Given the description of an element on the screen output the (x, y) to click on. 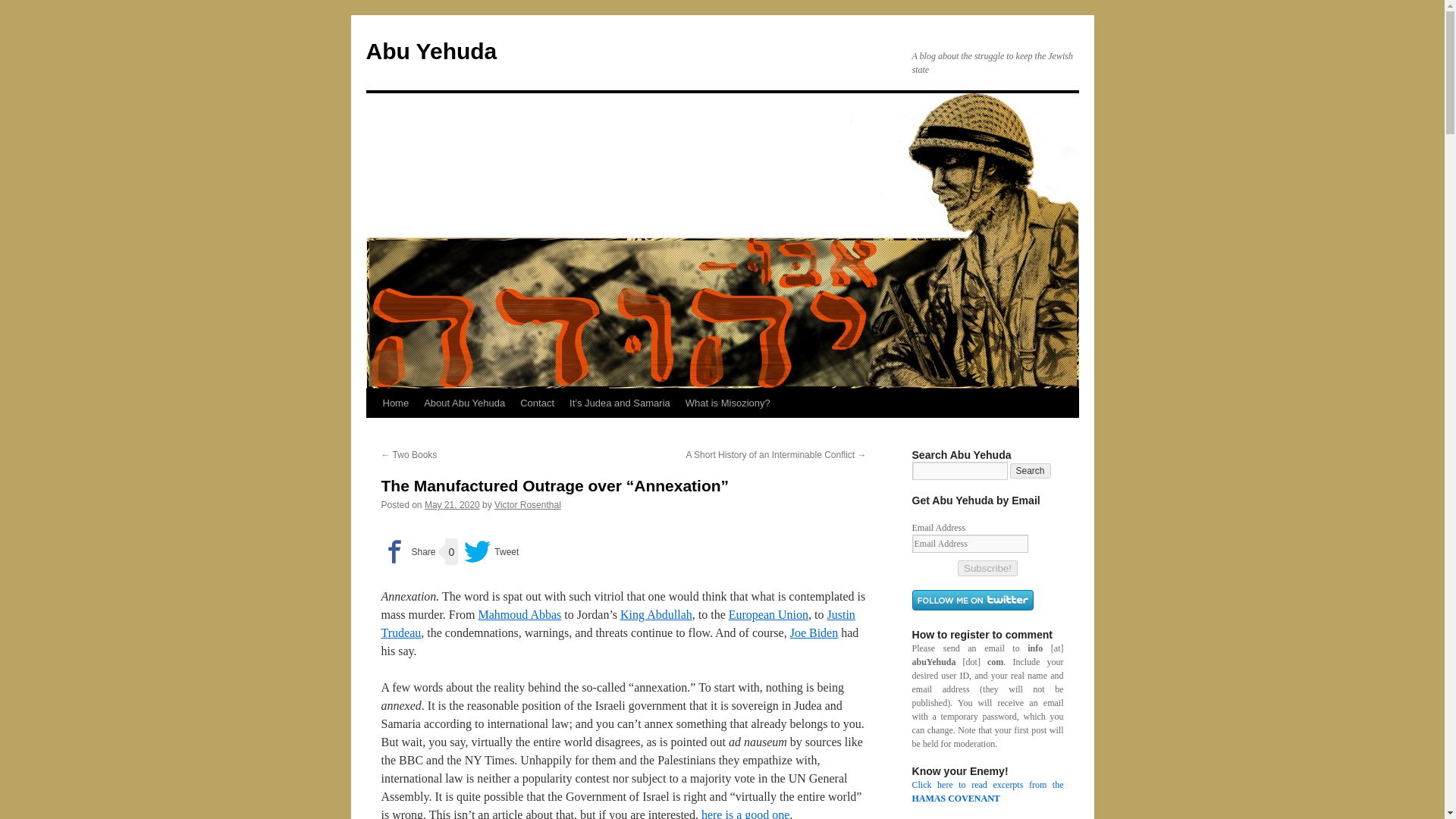
Contact (537, 403)
12:00 pm (452, 504)
here is a good one (745, 813)
Victor Rosenthal (527, 504)
What is Misoziony? (727, 403)
Abu Yehuda (430, 50)
Home (395, 403)
Hamas Covenant excerpts (986, 791)
About Abu Yehuda (464, 403)
Mahmoud Abbas (518, 614)
